Given the description of an element on the screen output the (x, y) to click on. 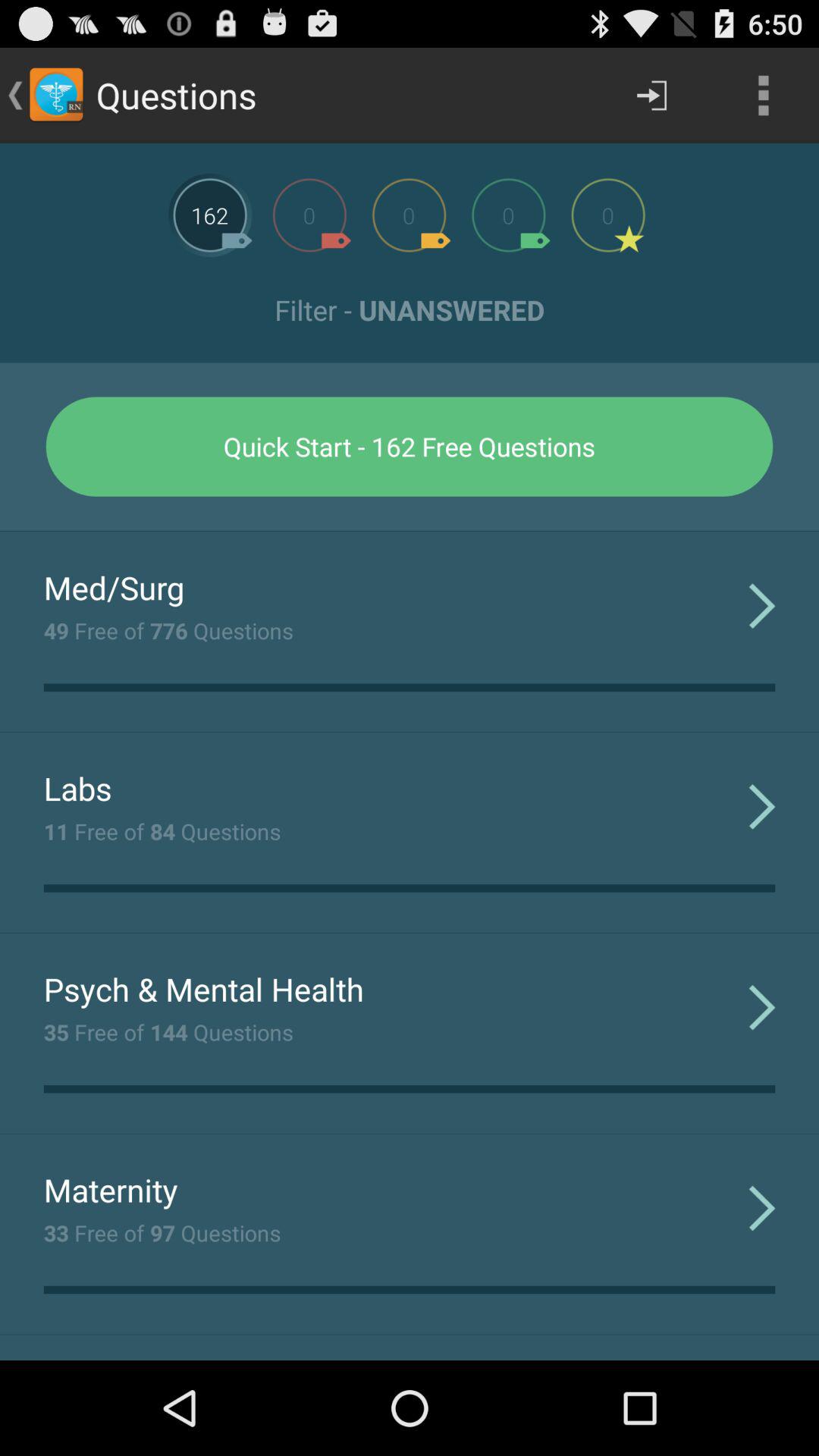
scroll to med/surg (113, 587)
